Given the description of an element on the screen output the (x, y) to click on. 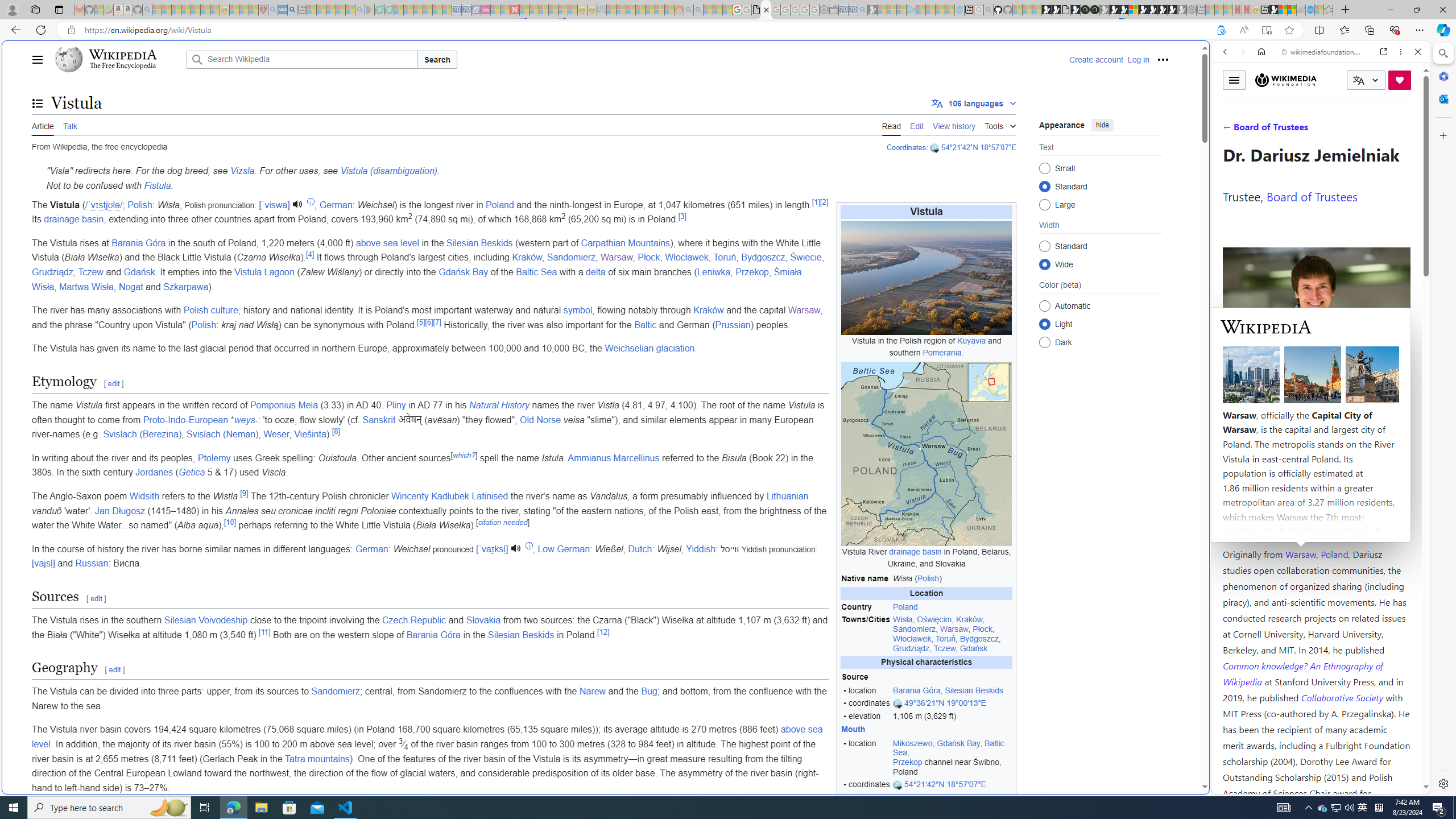
Large (1044, 204)
Wide (1044, 263)
Class: mw-file-description (926, 453)
Sign in to your account (1133, 9)
Pets - MSN - Sleeping (340, 9)
Fistula (157, 185)
which? (464, 454)
Play Zoo Boom in your browser | Games from Microsoft Start (1055, 9)
utah sues federal government - Search (291, 9)
Wikimedia Foundation (1286, 79)
